Given the description of an element on the screen output the (x, y) to click on. 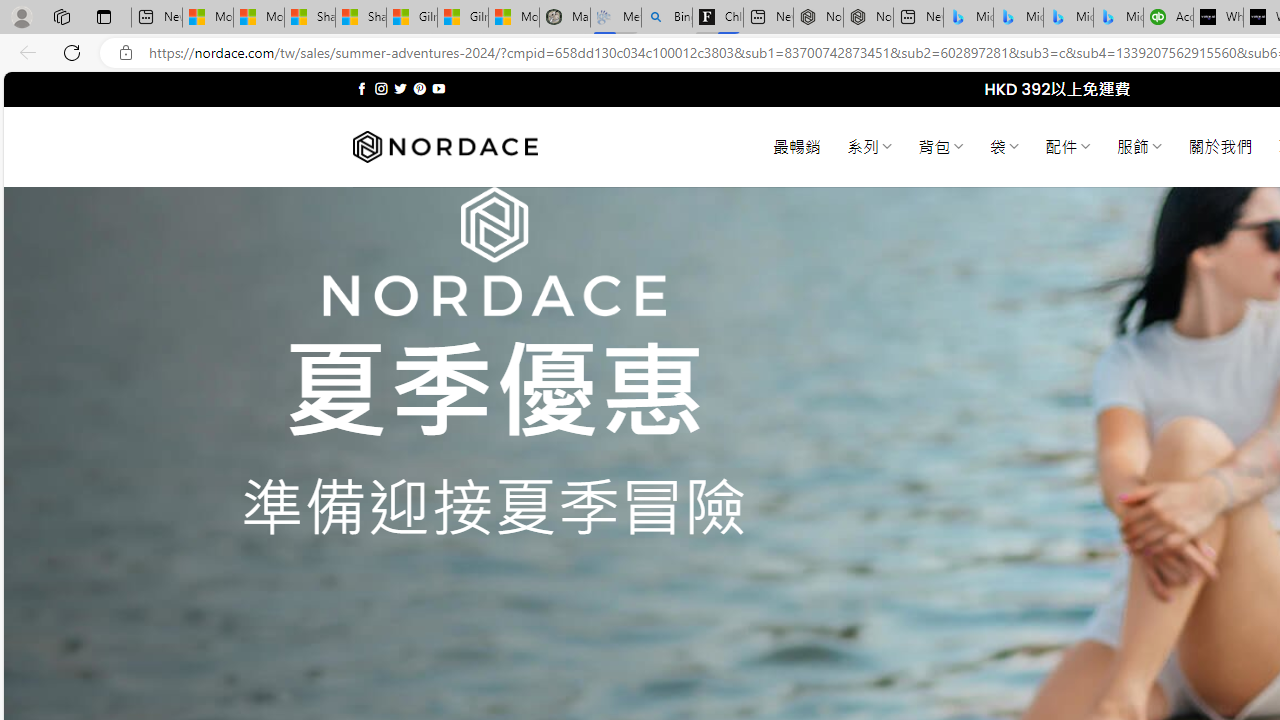
View site information (125, 53)
Follow on Instagram (381, 88)
Back (24, 52)
Nordace - #1 Japanese Best-Seller - Siena Smart Backpack (868, 17)
Chloe Sorvino (717, 17)
Bing Real Estate - Home sales and rental listings (667, 17)
